Given the description of an element on the screen output the (x, y) to click on. 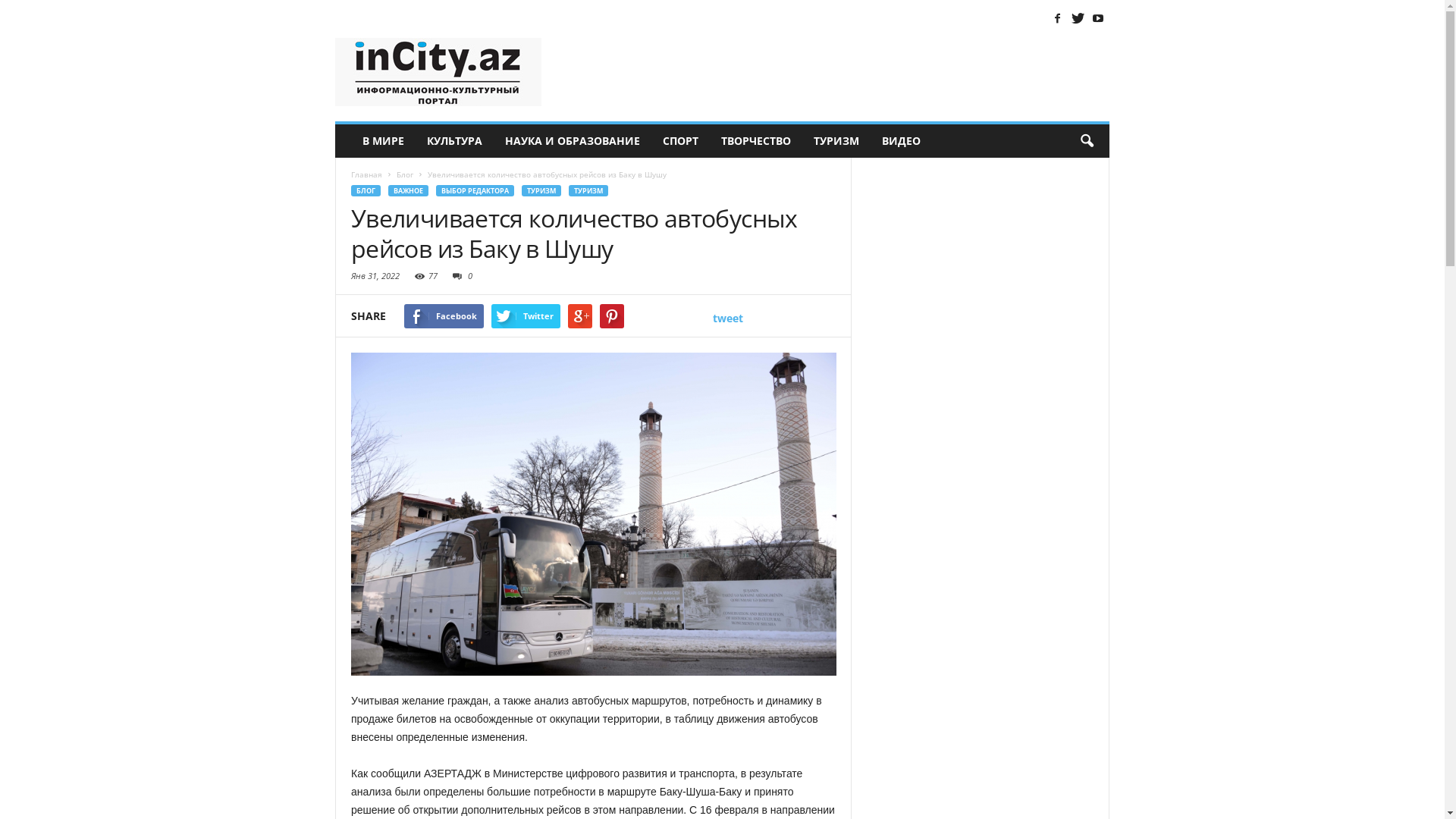
Twitter Element type: hover (1077, 17)
tweet Element type: text (727, 318)
Facebook Element type: hover (1057, 17)
Advertisement Element type: hover (833, 71)
0 Element type: text (459, 275)
Facebook Element type: text (443, 315)
Twitter Element type: text (525, 315)
Youtube Element type: hover (1097, 17)
